Given the description of an element on the screen output the (x, y) to click on. 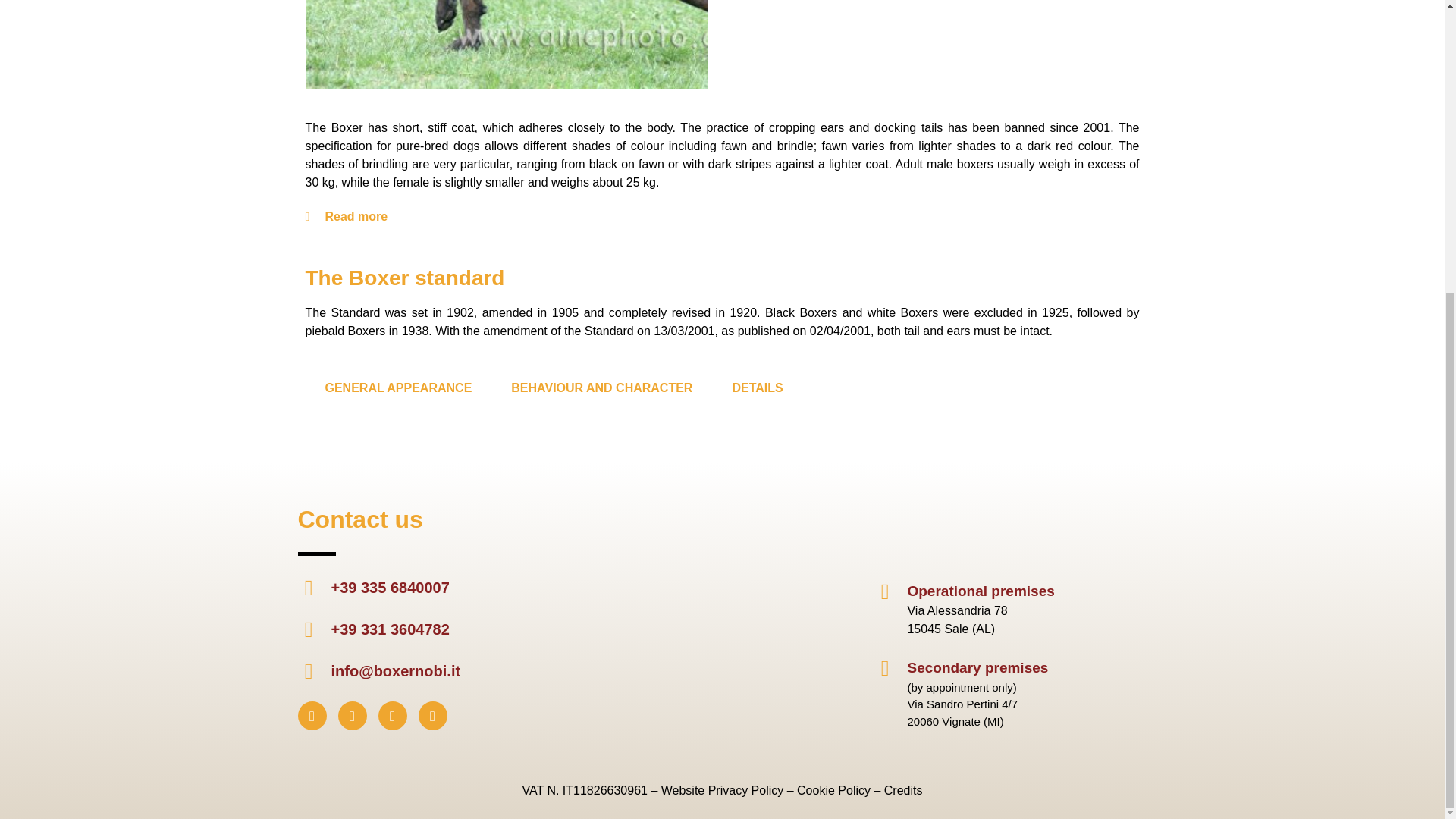
Cookie Policy (833, 789)
Website Privacy Policy (722, 789)
The Boxer standard (403, 277)
Read more (355, 215)
Credits (903, 789)
